Given the description of an element on the screen output the (x, y) to click on. 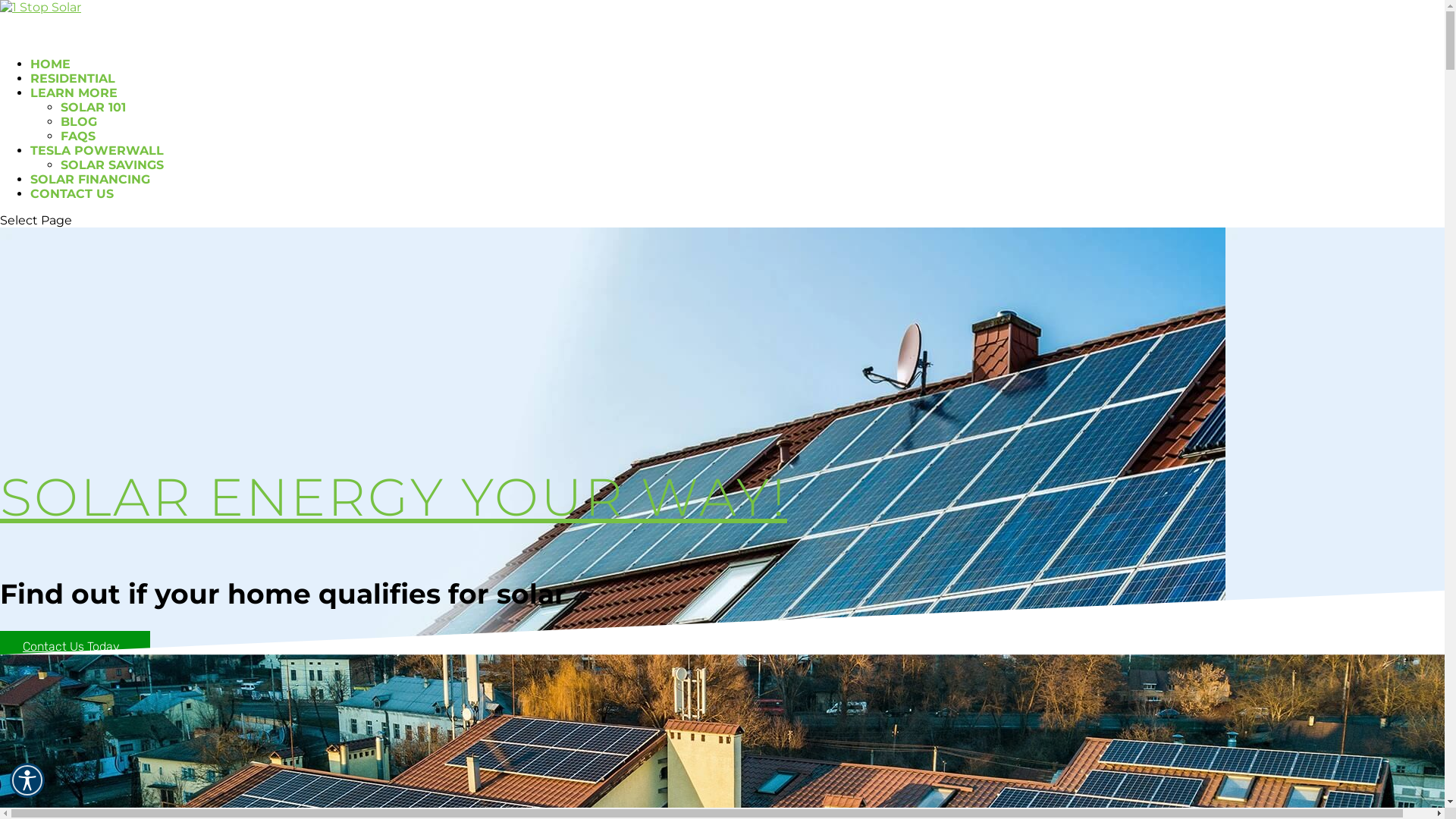
SOLAR 101 Element type: text (92, 107)
HOME Element type: text (50, 78)
LEARN MORE Element type: text (73, 107)
CONTACT US Element type: text (71, 208)
FAQS Element type: text (77, 135)
BLOG Element type: text (78, 121)
SOLAR FINANCING Element type: text (90, 194)
TESLA POWERWALL Element type: text (96, 165)
RESIDENTIAL Element type: text (72, 93)
SOLAR ENERGY YOUR WAY! Element type: text (393, 496)
Contact Us Today Element type: text (75, 646)
SOLAR SAVINGS Element type: text (111, 164)
